Given the description of an element on the screen output the (x, y) to click on. 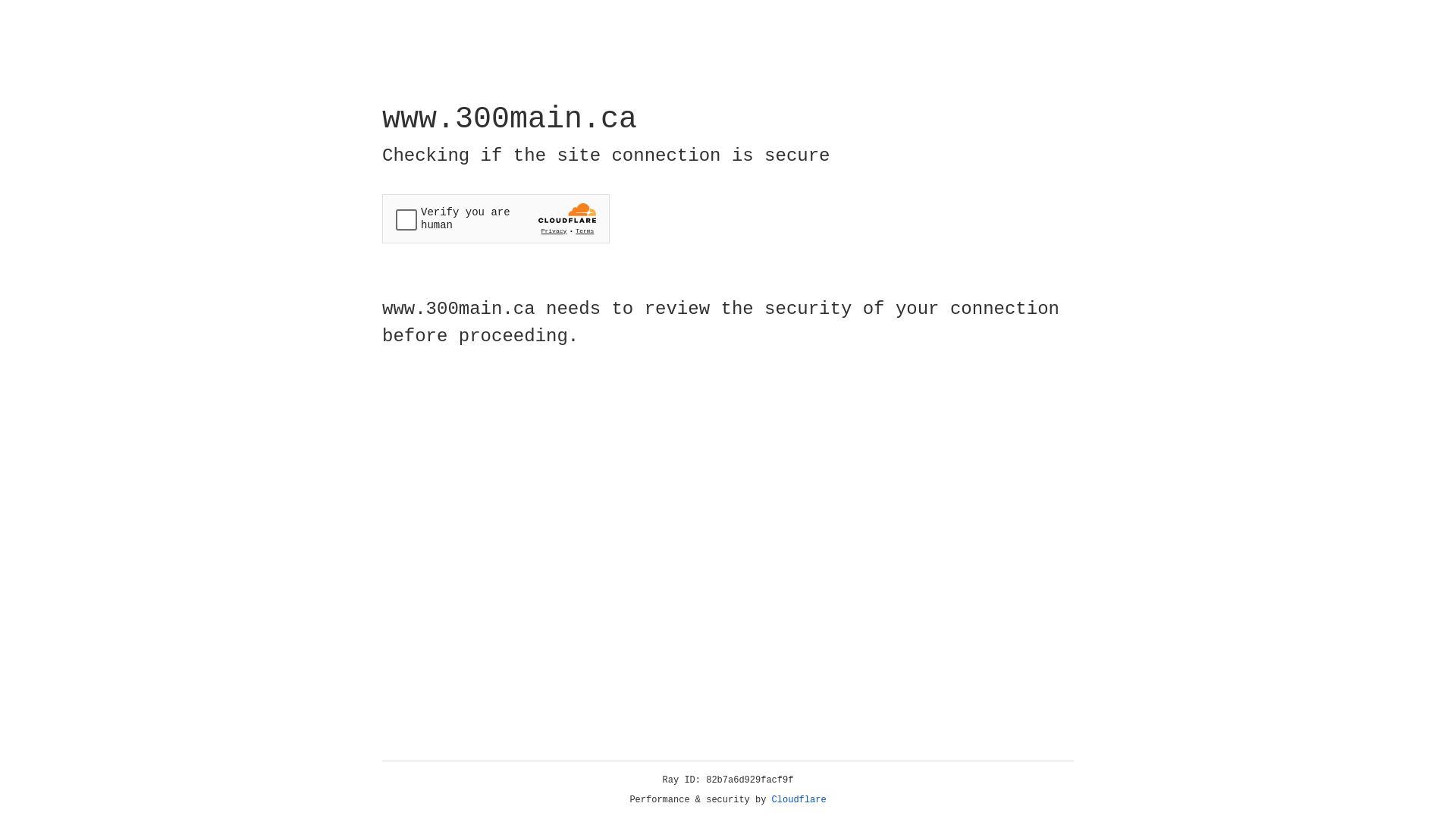
Widget containing a Cloudflare security challenge Element type: hover (495, 218)
Cloudflare Element type: text (798, 799)
